Given the description of an element on the screen output the (x, y) to click on. 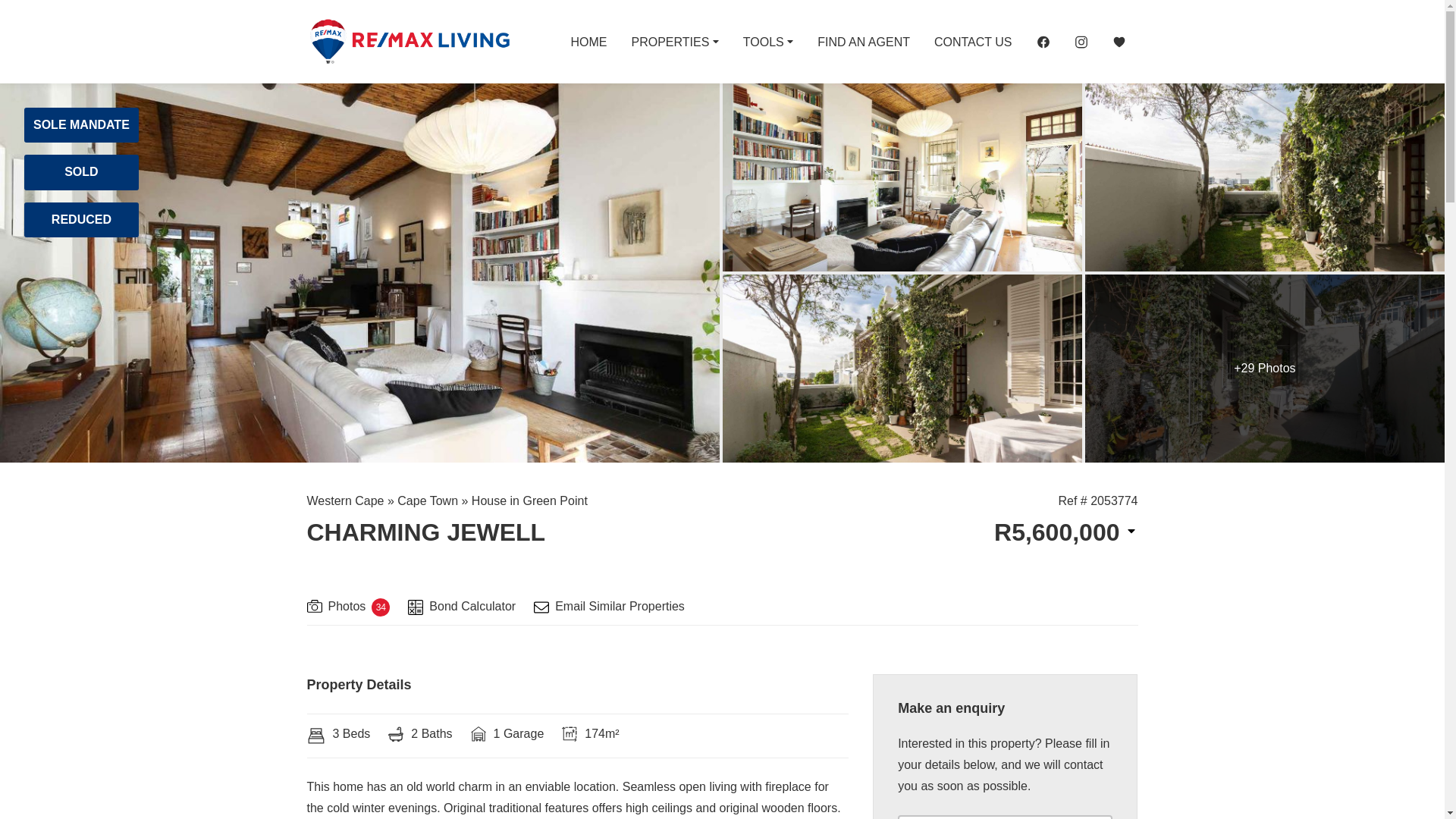
Facebook (1042, 41)
Cape Town (427, 501)
FIND AN AGENT (863, 41)
Western Cape (344, 501)
Favourites (1118, 41)
House in Green Point (529, 501)
FAVOURITES (1118, 41)
HOME (587, 41)
CONTACT US (973, 41)
Instagram (1080, 41)
FACEBOOK (1042, 41)
Property for sale and to rent Cape Town (408, 41)
Currency converter (1065, 532)
Email Similar Properties (609, 608)
Bond Calculator (461, 608)
